Given the description of an element on the screen output the (x, y) to click on. 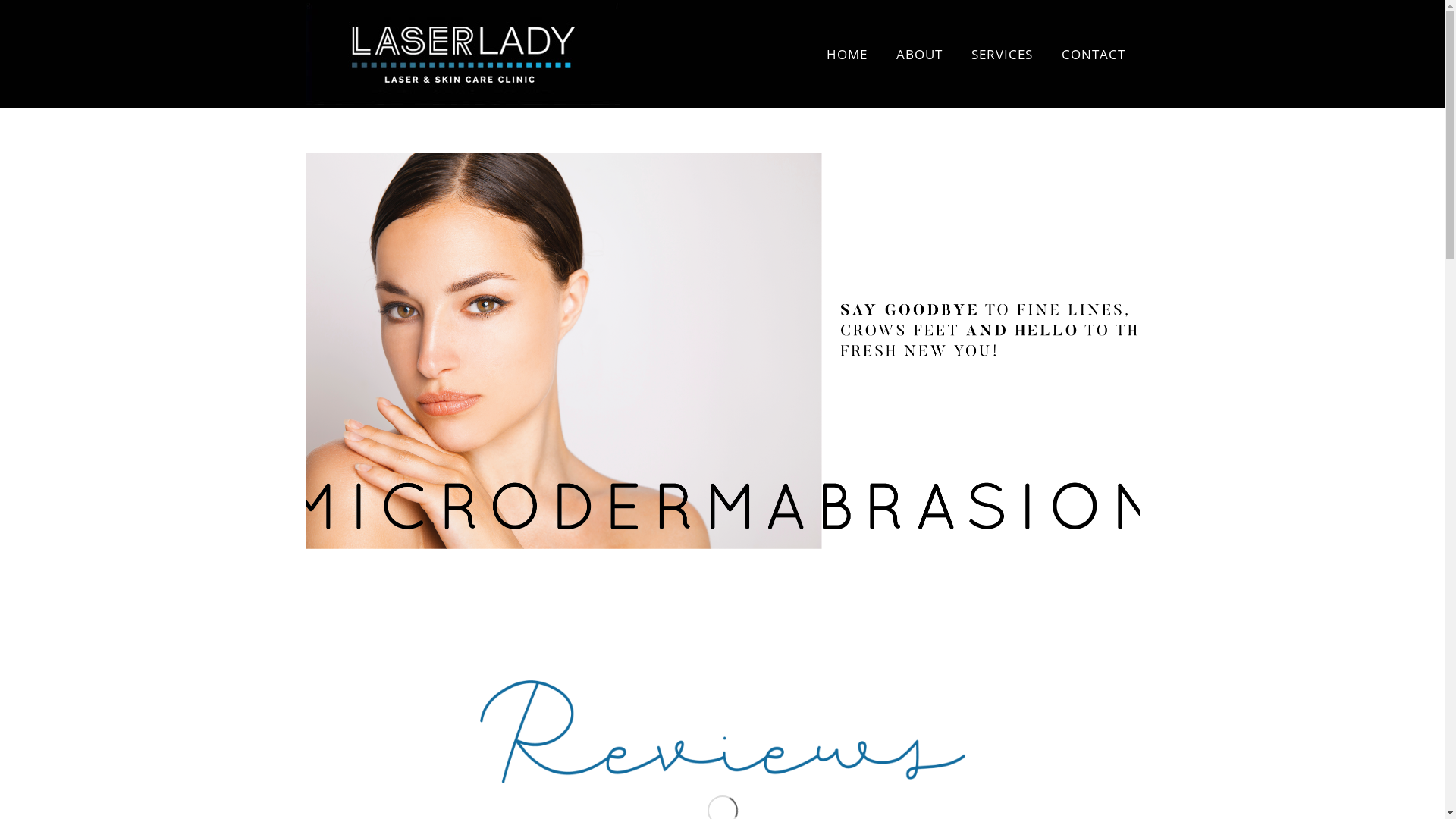
HOME Element type: text (846, 54)
SERVICES Element type: text (1002, 54)
ABOUT Element type: text (918, 54)
CONTACT Element type: text (1092, 54)
